Given the description of an element on the screen output the (x, y) to click on. 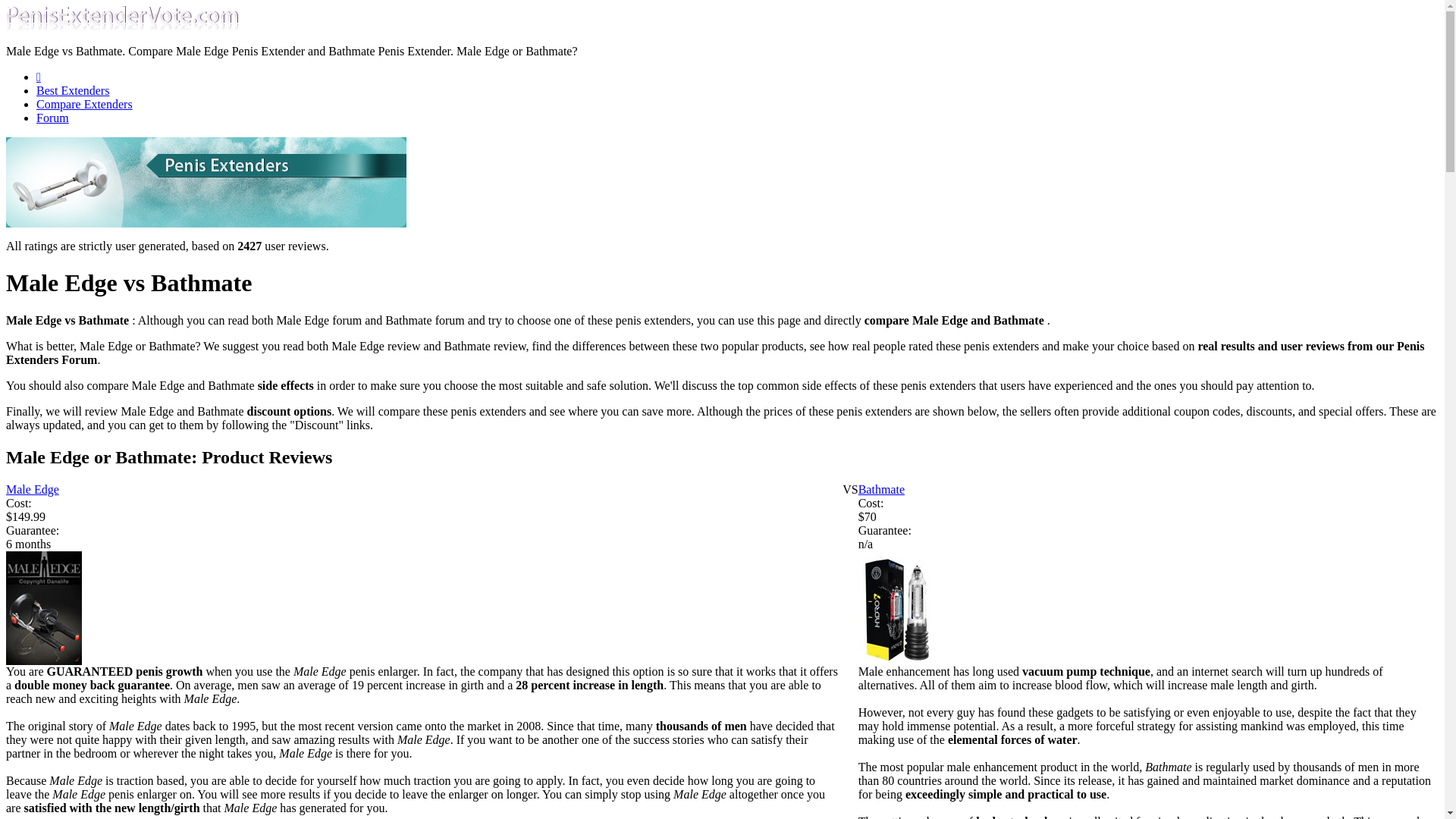
Bathmate (881, 489)
Compare Extenders (84, 103)
Male Edge (32, 489)
Forum (52, 117)
Best Extenders (72, 90)
